Given the description of an element on the screen output the (x, y) to click on. 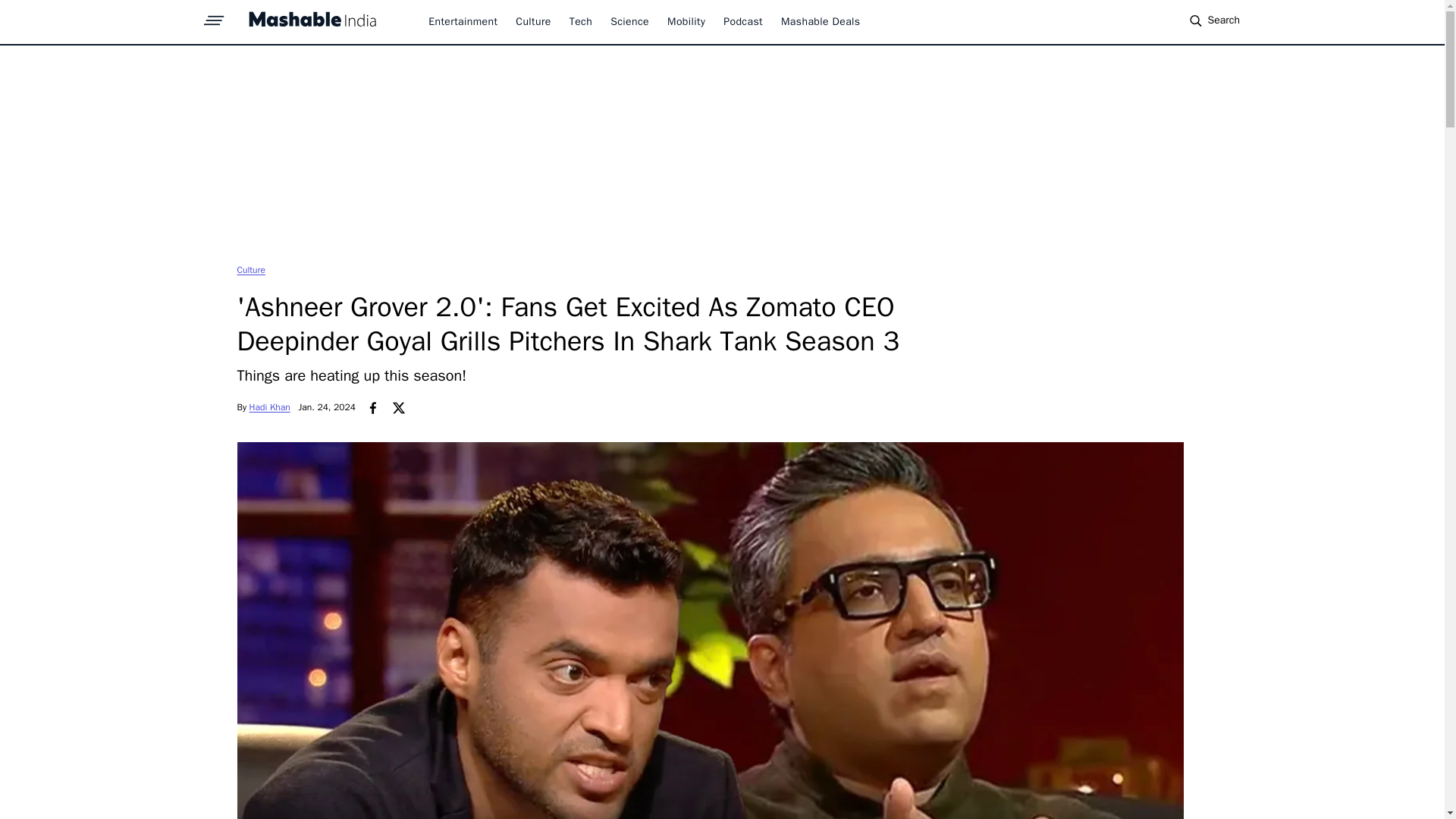
Culture (249, 269)
Tech (580, 21)
Culture (249, 269)
Podcast (742, 21)
Hadi Khan (268, 407)
Entertainment (462, 21)
sprite-hamburger (213, 16)
Science (629, 21)
Culture (532, 21)
Mashable Deals (820, 21)
